Given the description of an element on the screen output the (x, y) to click on. 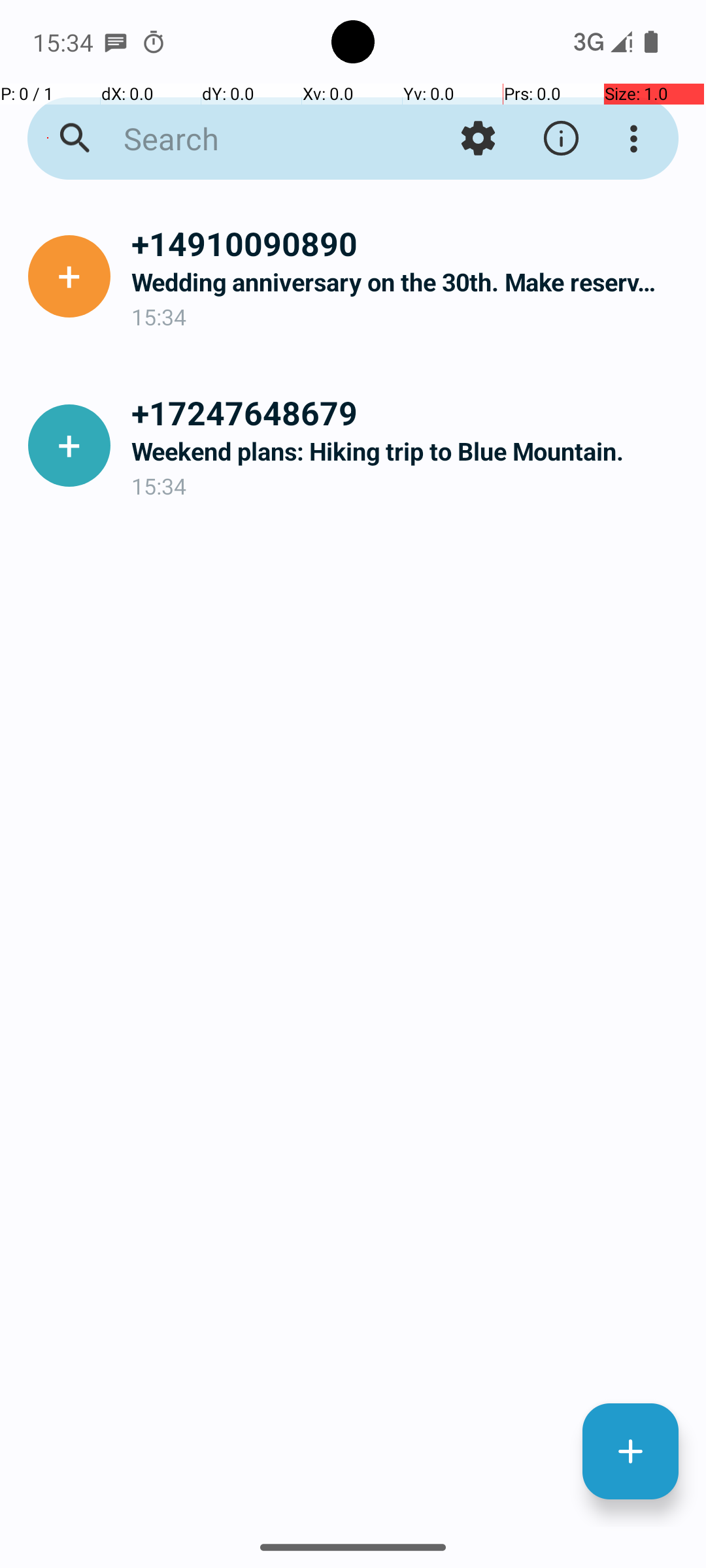
+14910090890 Element type: android.widget.TextView (408, 242)
Wedding anniversary on the 30th. Make reservations! Element type: android.widget.TextView (408, 281)
+17247648679 Element type: android.widget.TextView (408, 412)
Weekend plans: Hiking trip to Blue Mountain. Element type: android.widget.TextView (408, 450)
